Given the description of an element on the screen output the (x, y) to click on. 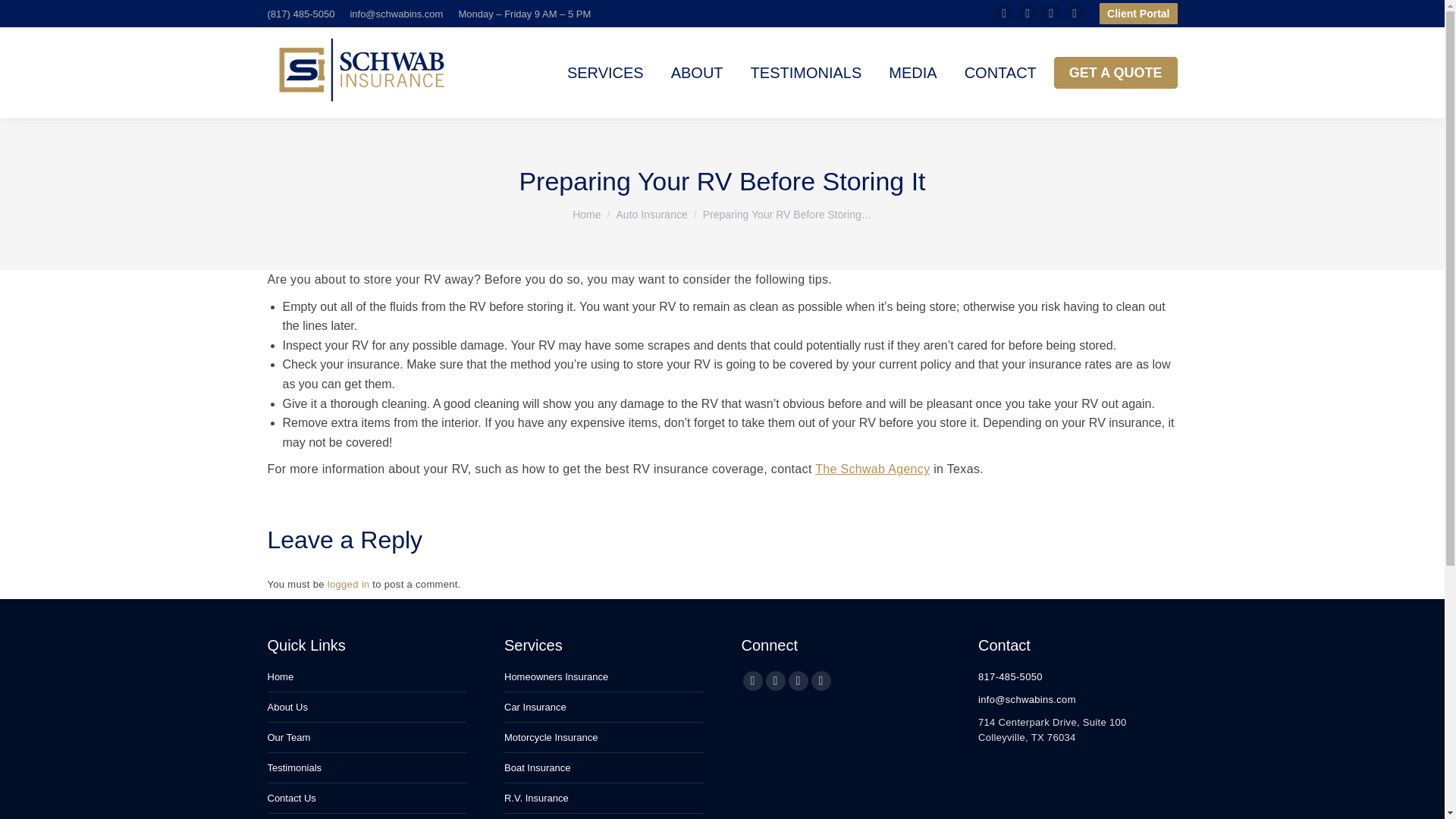
GET A QUOTE (1115, 72)
Instagram page opens in new window (1074, 13)
Linkedin page opens in new window (1026, 13)
Instagram page opens in new window (1074, 13)
Home (585, 214)
YouTube page opens in new window (1051, 13)
Linkedin page opens in new window (1026, 13)
Client Portal (1137, 13)
ABOUT (697, 72)
CONTACT (999, 72)
YouTube page opens in new window (1051, 13)
Facebook page opens in new window (1003, 13)
TESTIMONIALS (806, 72)
SERVICES (605, 72)
Facebook page opens in new window (1003, 13)
